Given the description of an element on the screen output the (x, y) to click on. 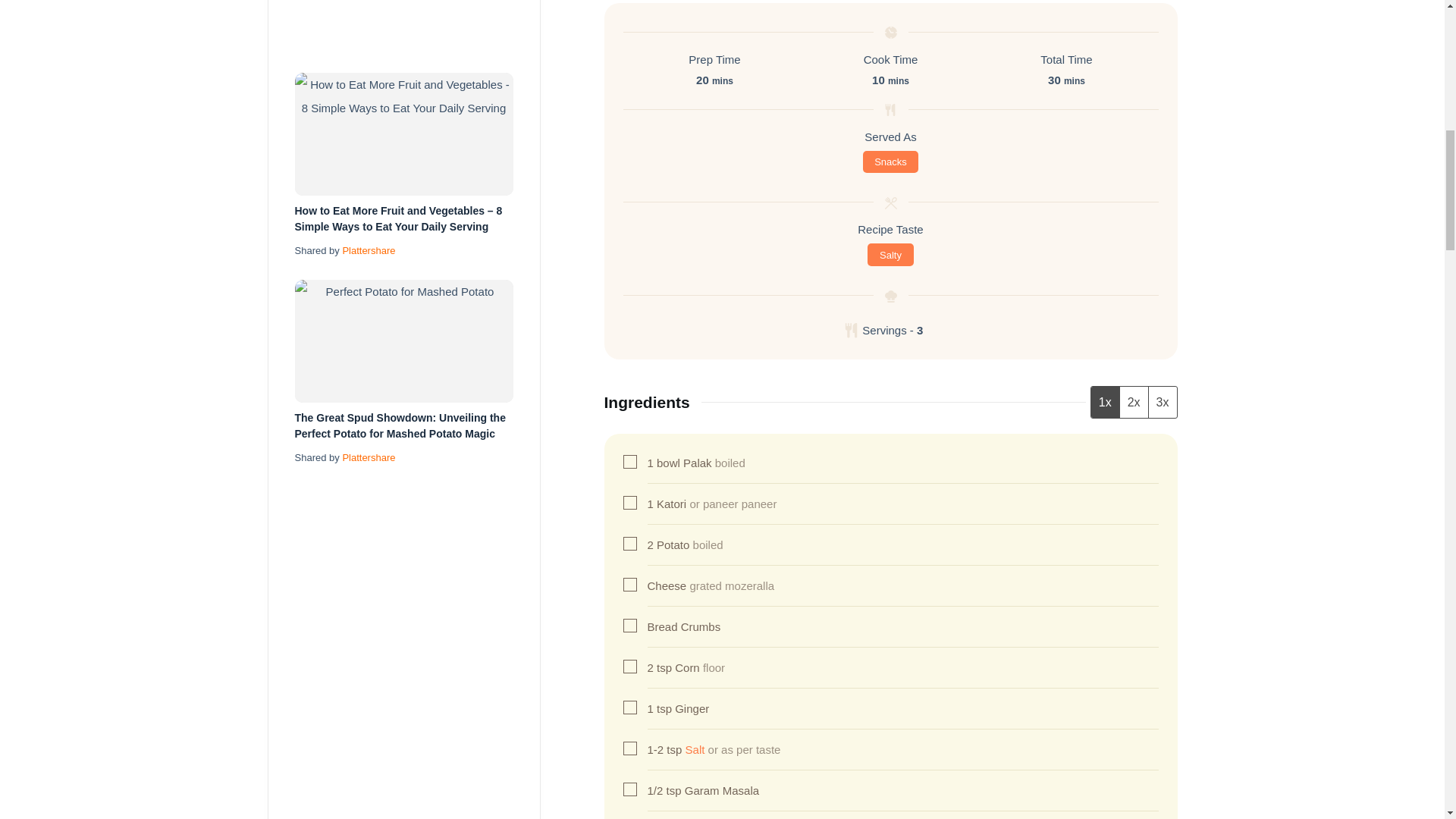
2x (1133, 402)
Salt (694, 748)
Salty (889, 254)
Snacks (890, 161)
3x (1162, 402)
